Given the description of an element on the screen output the (x, y) to click on. 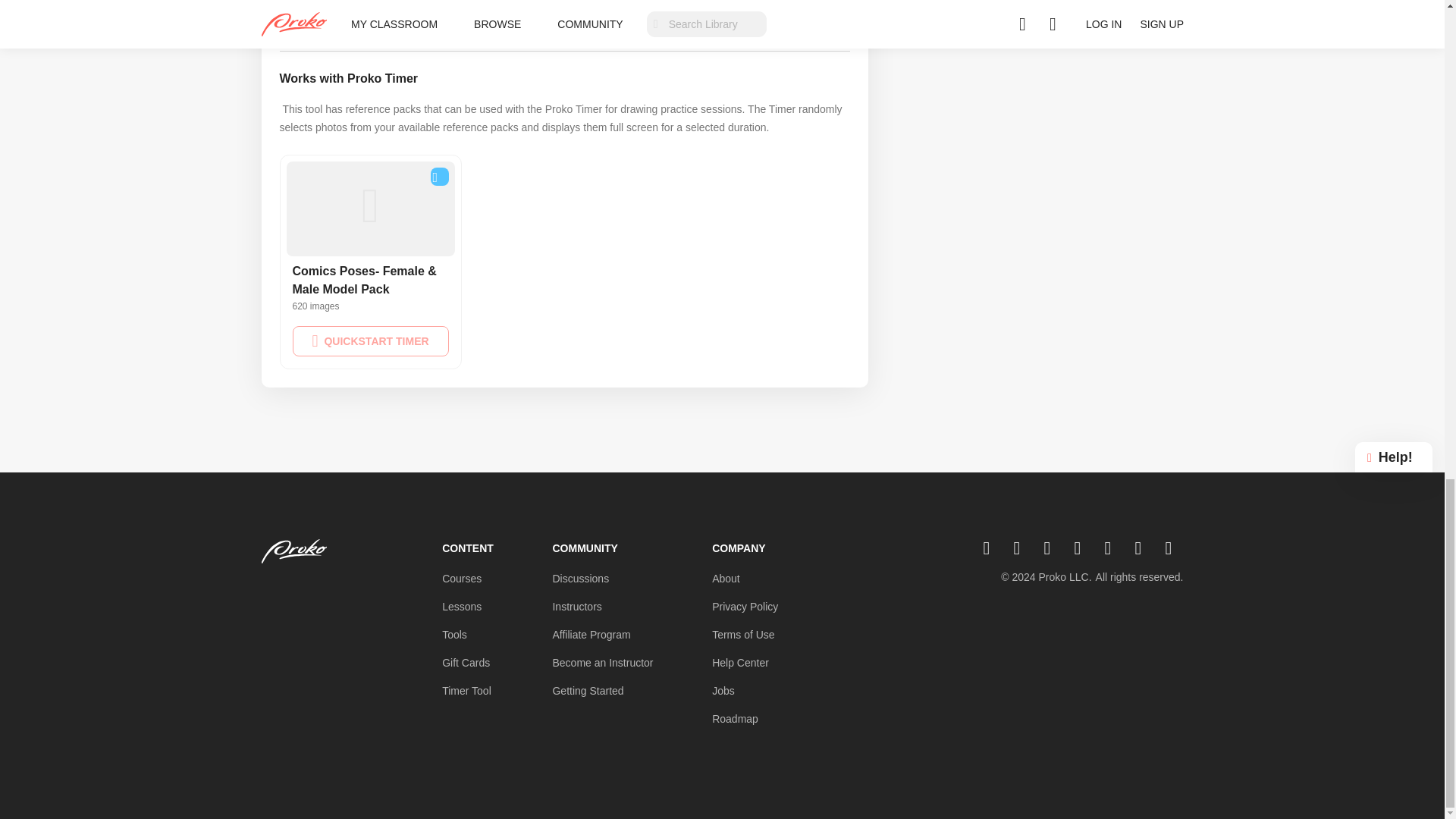
YouTube (991, 547)
X (1083, 547)
Spotify (1112, 547)
Instagram (1021, 547)
QUICKSTART TIMER (370, 340)
Podcast (1173, 547)
Linkedin (1143, 547)
Facebook (1052, 547)
